Given the description of an element on the screen output the (x, y) to click on. 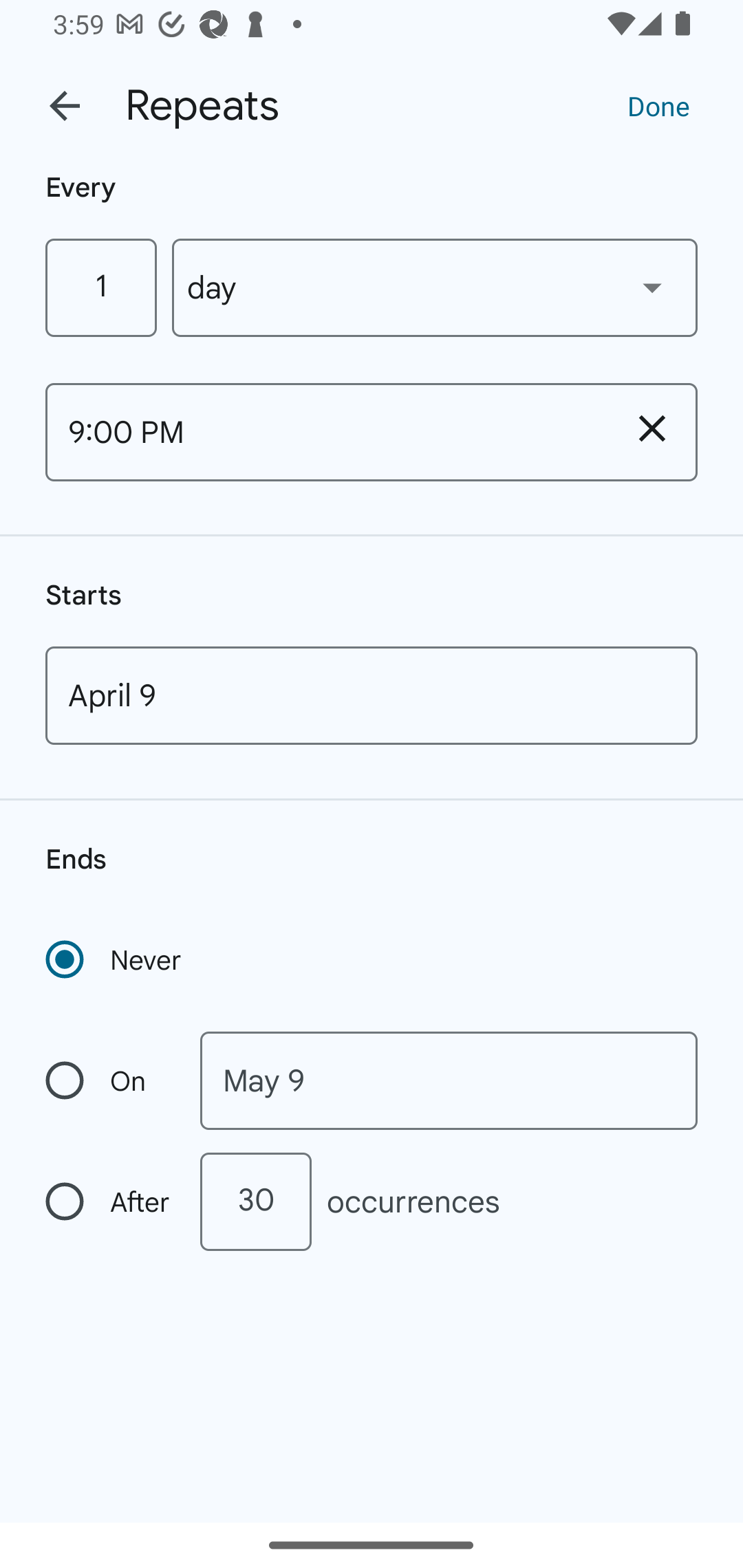
Back (64, 105)
Done (658, 105)
1 (100, 287)
day (434, 287)
Show dropdown menu (652, 286)
9:00 PM (326, 431)
Remove 9:00 PM (652, 427)
April 9 (371, 695)
Never Recurrence never ends (115, 959)
May 9 (448, 1080)
On Recurrence ends on a specific date (109, 1080)
30 (255, 1201)
